Given the description of an element on the screen output the (x, y) to click on. 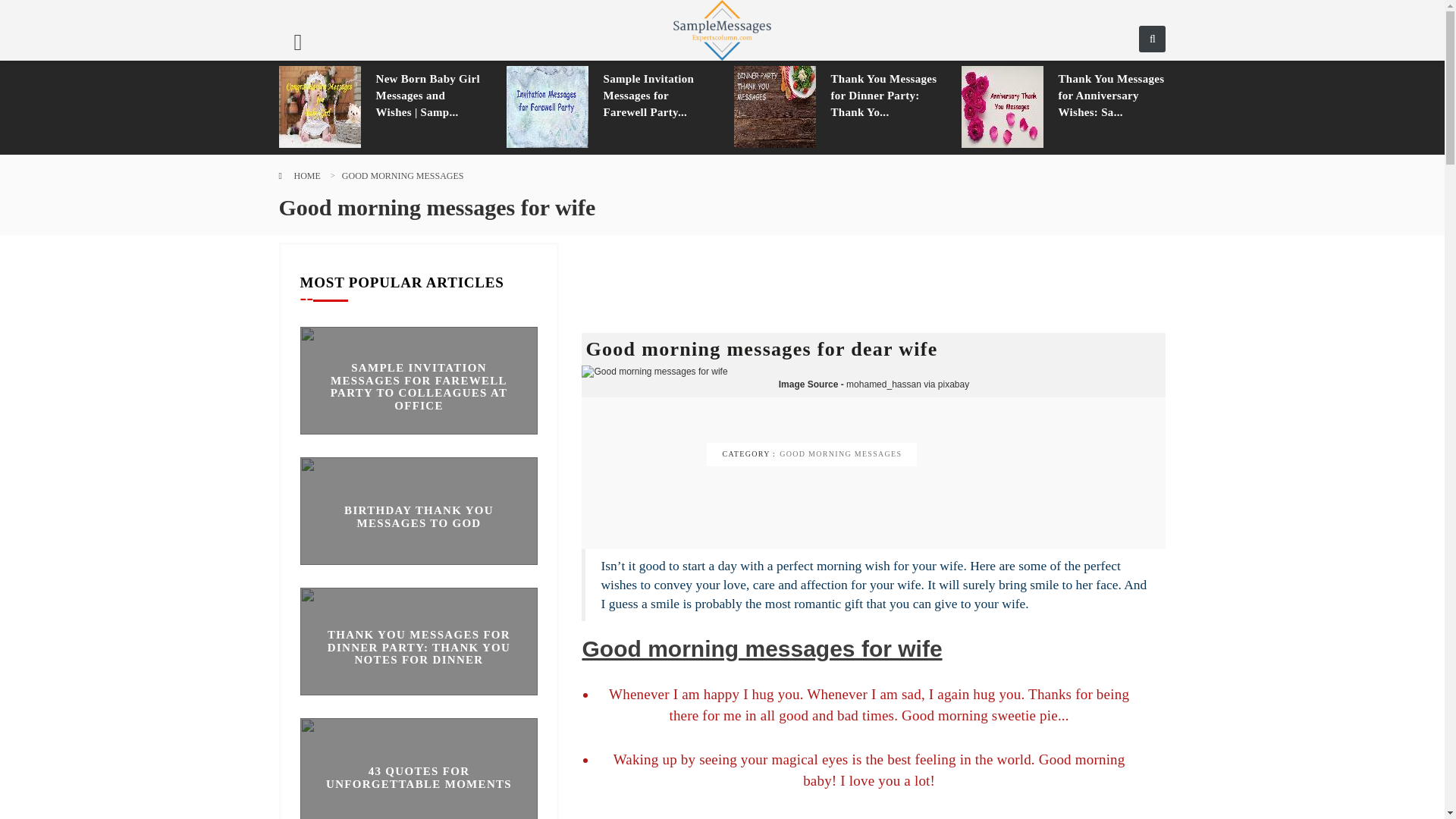
HOME (307, 175)
Sample Invitation Messages for Farewell Party... (657, 95)
GOOD MORNING MESSAGES (839, 453)
GOOD MORNING MESSAGES (403, 175)
Thank You Messages for Dinner Party: Thank Yo... (885, 95)
Thank You Messages for Anniversary Wishes: Sa... (1112, 95)
